Given the description of an element on the screen output the (x, y) to click on. 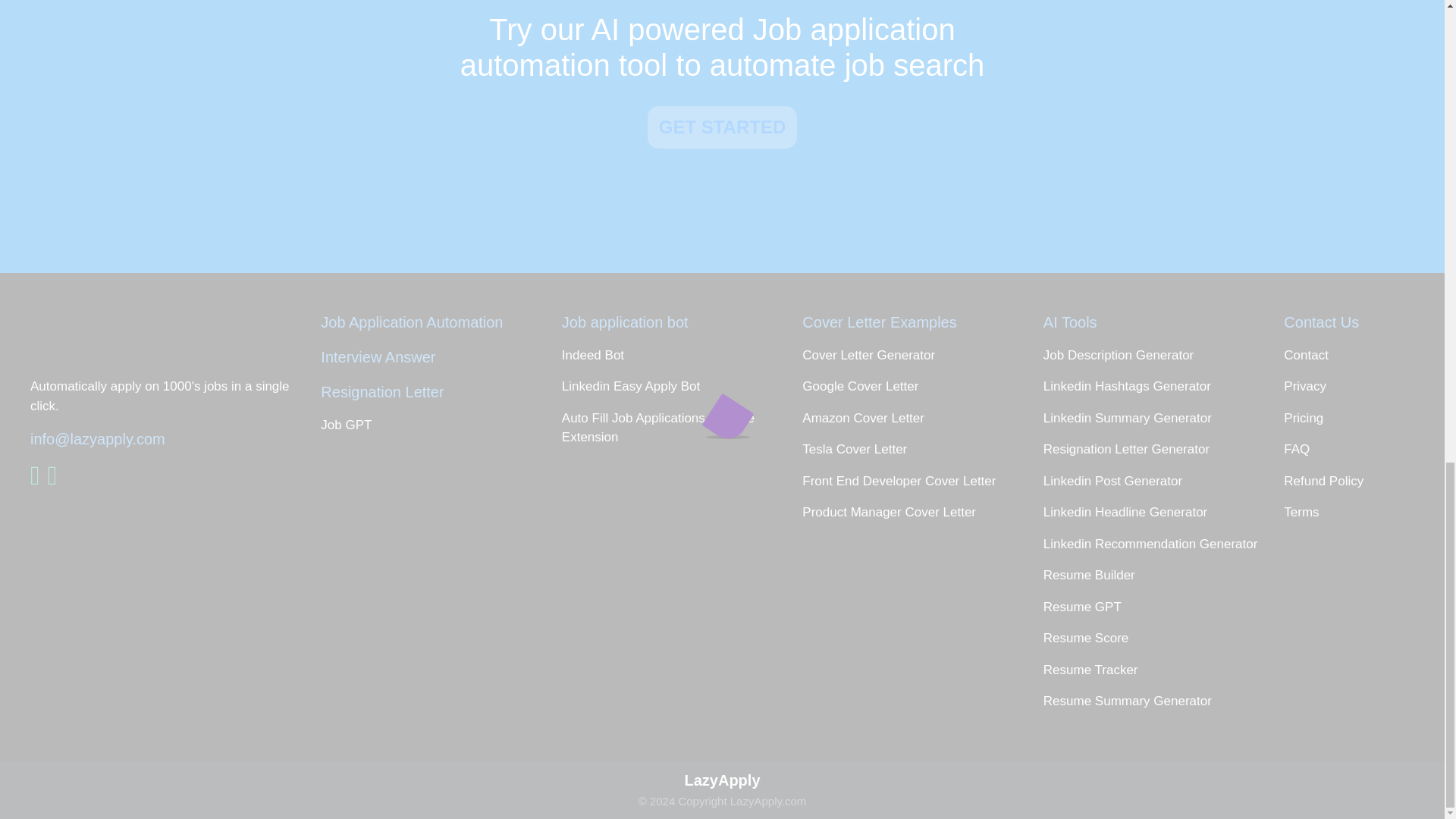
Privacy (1360, 386)
Product Manager Cover Letter (911, 512)
Resume Builder (1159, 575)
Auto Fill Job Applications Chrome Extension (671, 427)
Cover Letter Examples (911, 322)
Job application bot (671, 322)
Refund Policy (1360, 481)
Indeed Bot (671, 355)
Resume GPT (1159, 607)
Resume Tracker (1159, 670)
Interview Answer (437, 356)
Resignation Letter (437, 391)
Amazon Cover Letter (911, 418)
Resume Summary Generator (1159, 701)
Linkedin Recommendation Generator (1159, 544)
